Given the description of an element on the screen output the (x, y) to click on. 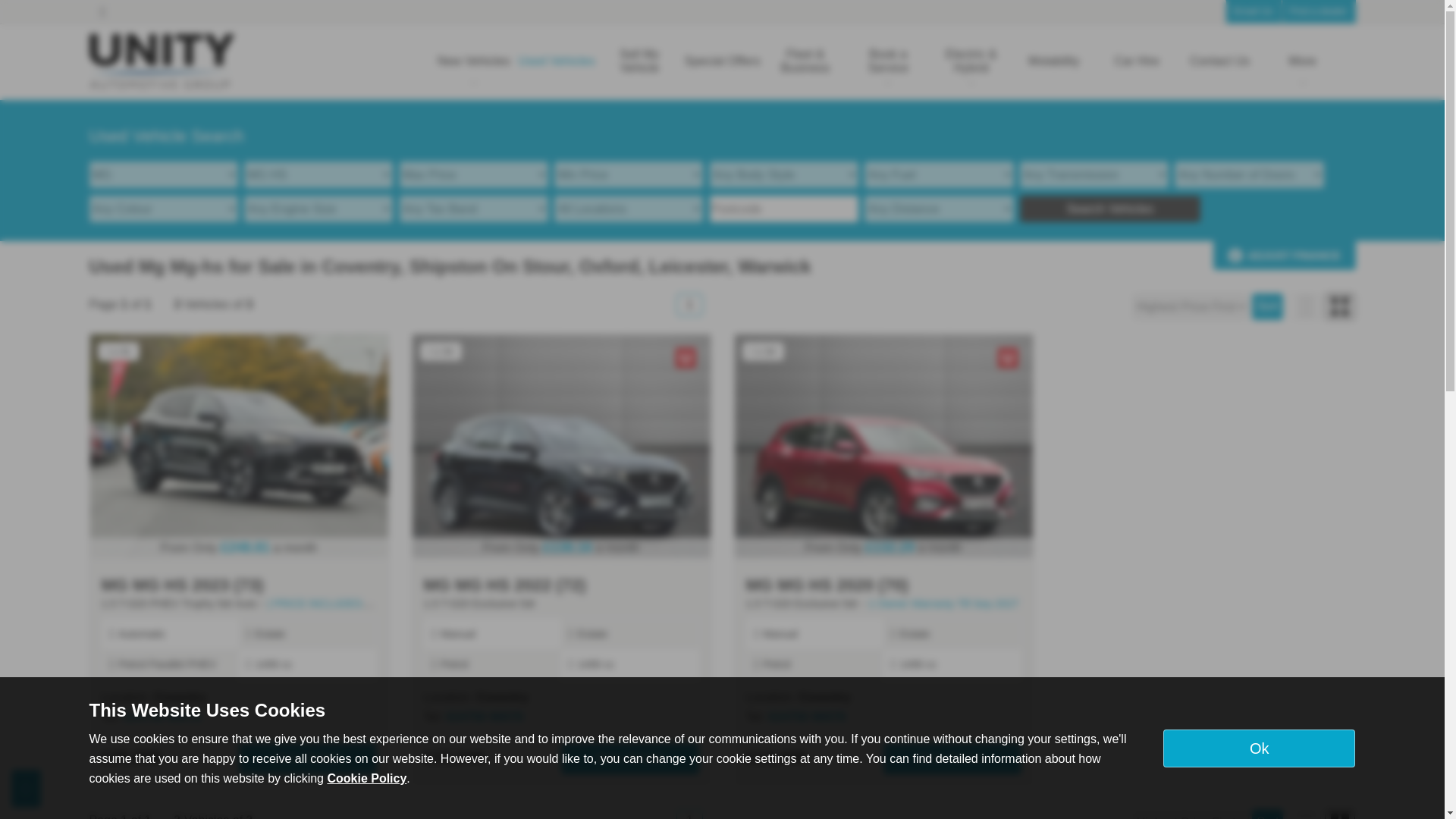
Grid View (1339, 814)
List View (1305, 814)
Contact Us (1218, 61)
Motability (1052, 61)
More (1301, 61)
Car Hire (1135, 61)
Sort (1267, 306)
Sell My Vehicle (639, 61)
Book a Service (888, 61)
List View (1305, 306)
Special Offers (721, 61)
Email Us (1253, 11)
Find a dealer (1318, 11)
Grid View (1339, 306)
Sort (1267, 814)
